Given the description of an element on the screen output the (x, y) to click on. 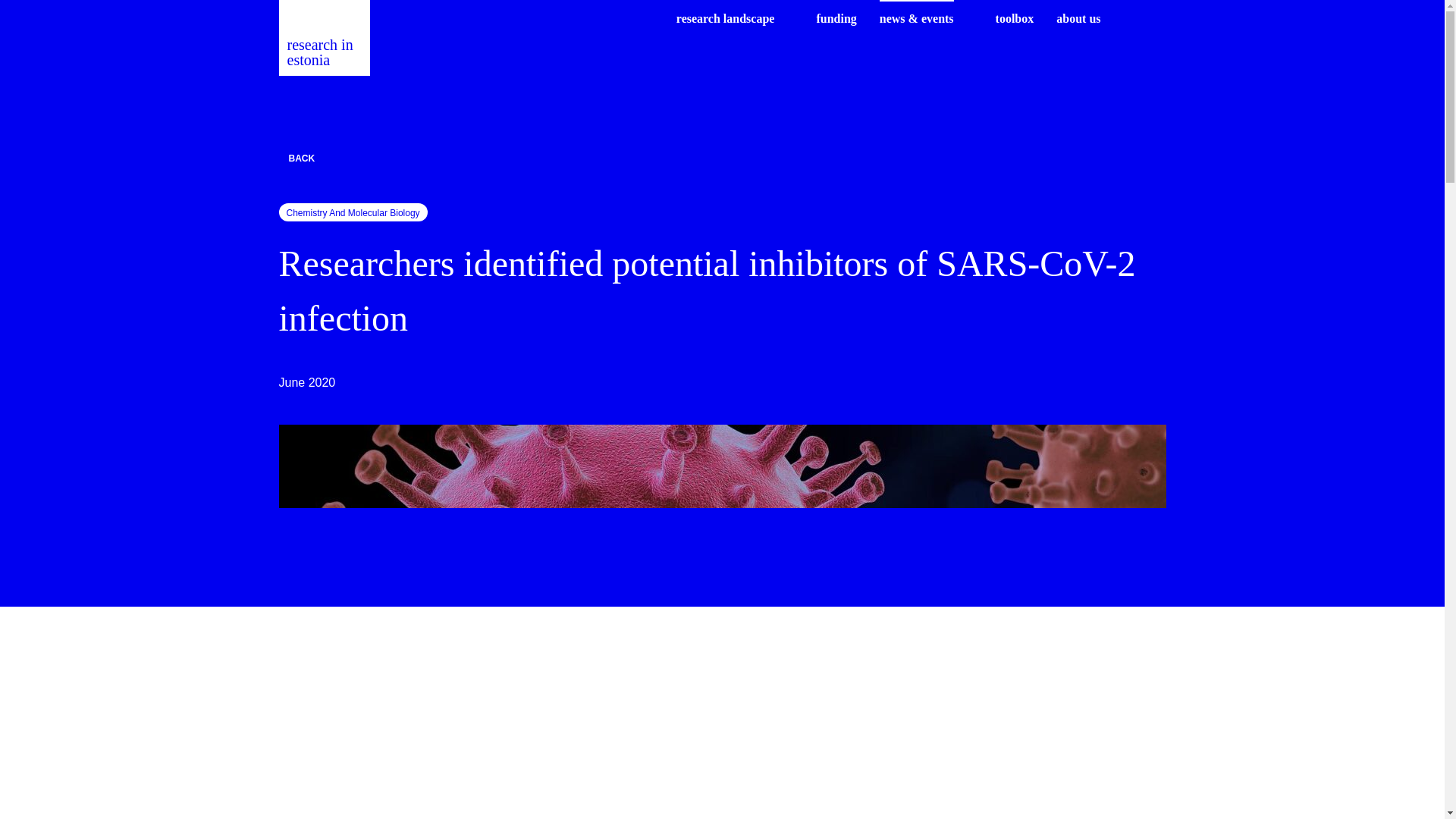
BACK (722, 158)
Chemistry And Molecular Biology (353, 212)
funding (835, 18)
toolbox (1014, 18)
about us (1078, 18)
research landscape (725, 18)
research in estonia (324, 38)
